Given the description of an element on the screen output the (x, y) to click on. 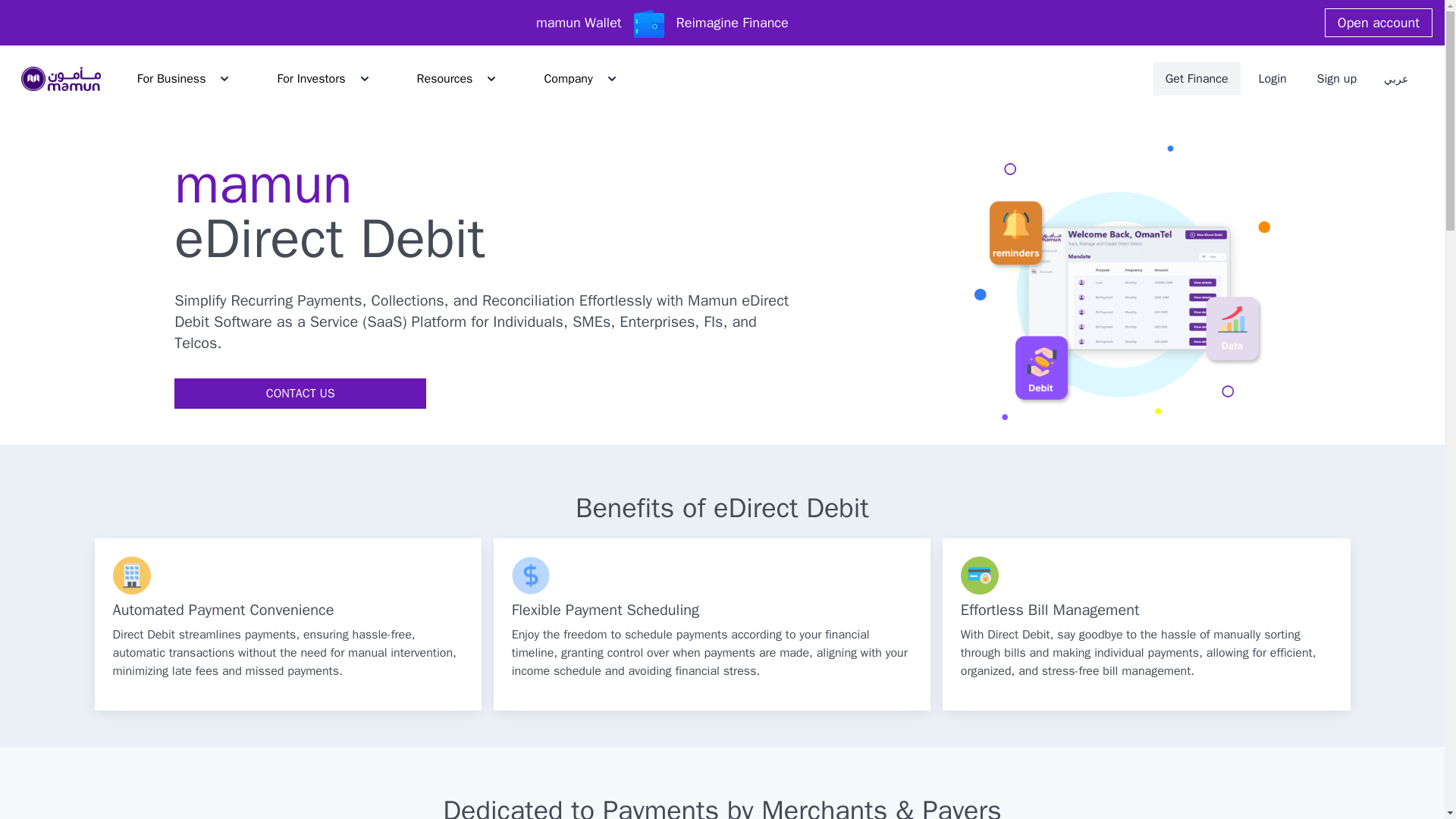
Company (567, 78)
Get Finance (1197, 78)
Login (1273, 78)
Open account (1378, 22)
Resources (444, 78)
Sign up (1336, 78)
For Investors (310, 78)
